Given the description of an element on the screen output the (x, y) to click on. 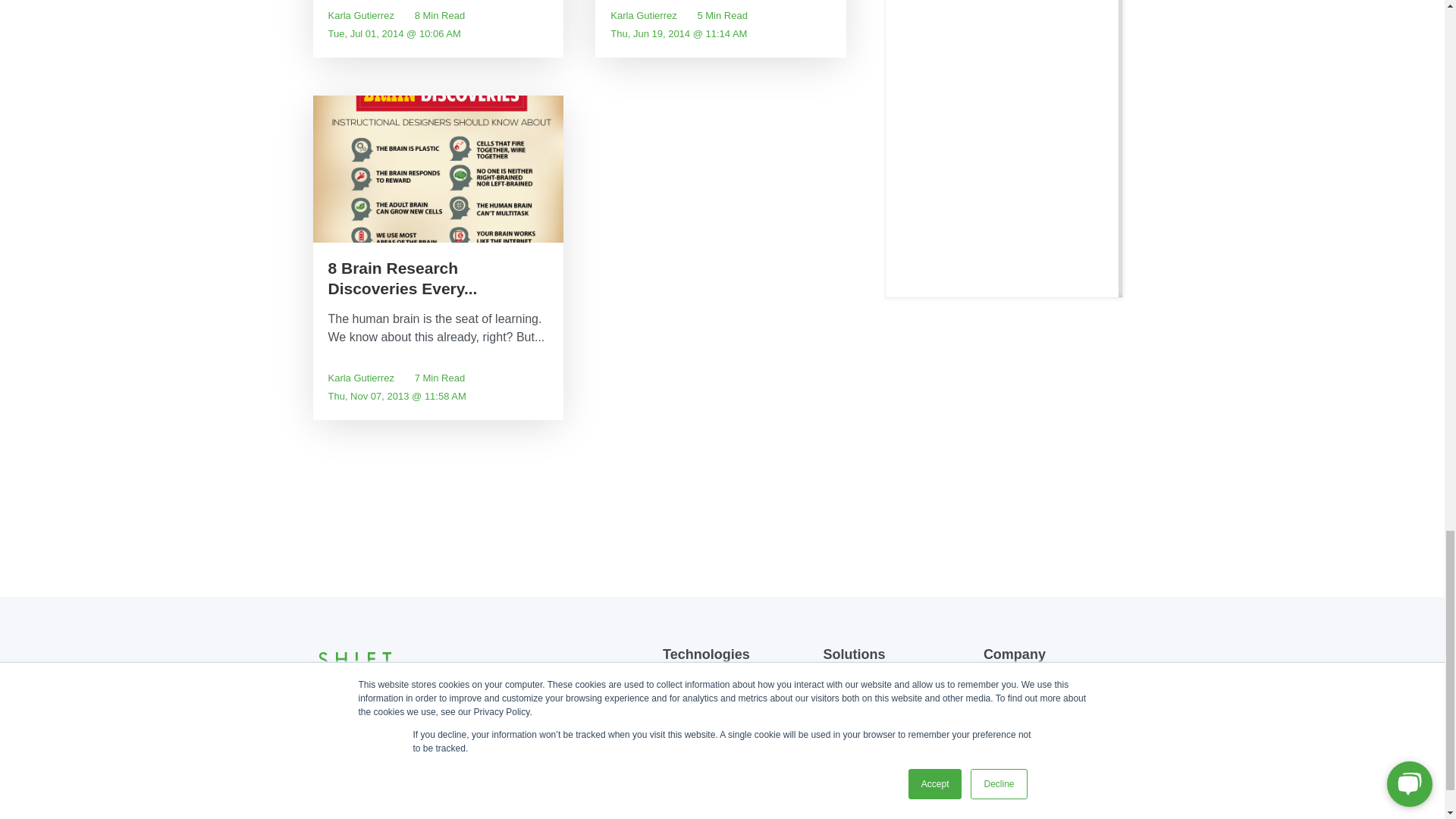
shift-logo-2021 (354, 659)
